Given the description of an element on the screen output the (x, y) to click on. 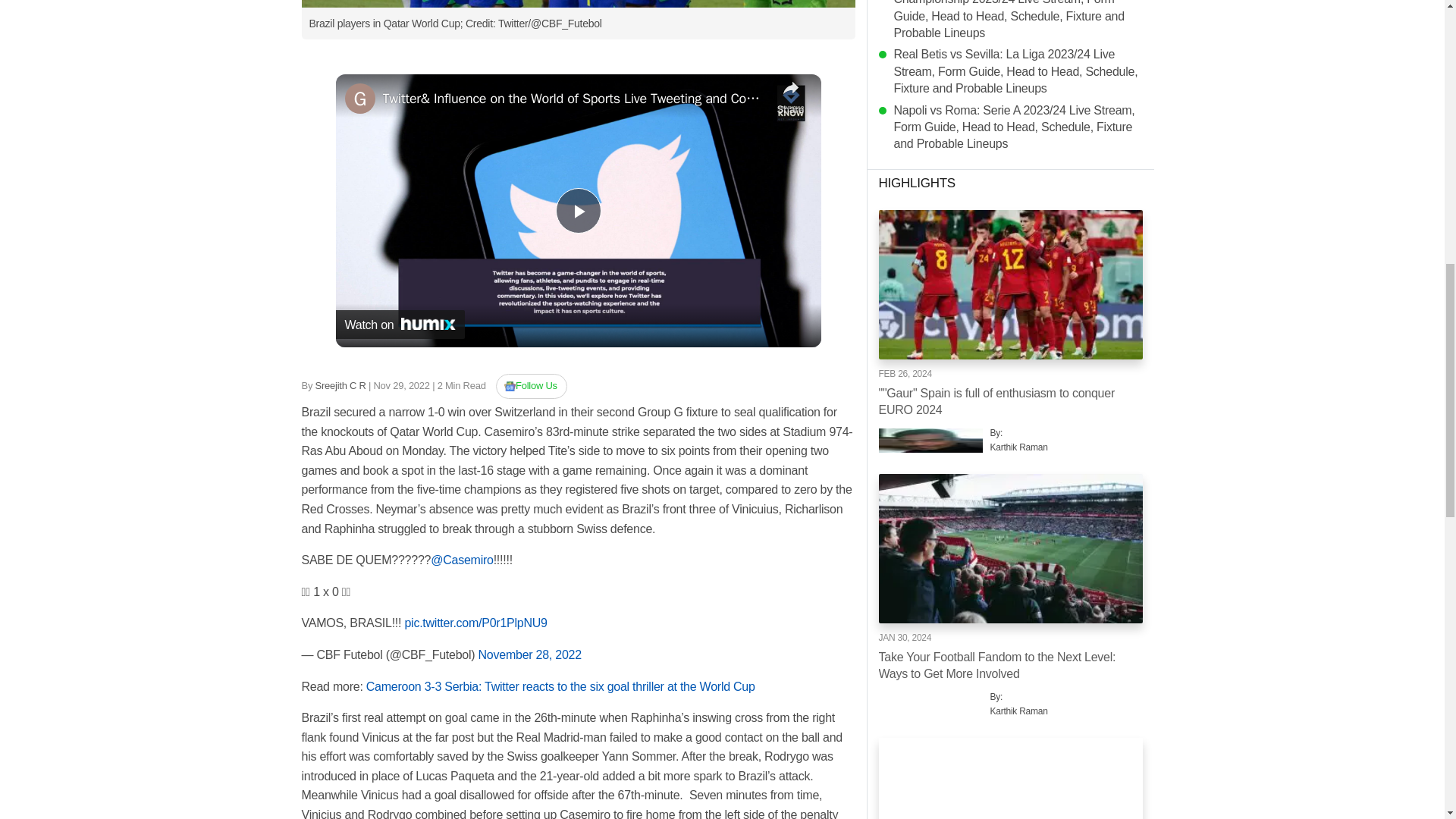
Play Video (576, 210)
